Given the description of an element on the screen output the (x, y) to click on. 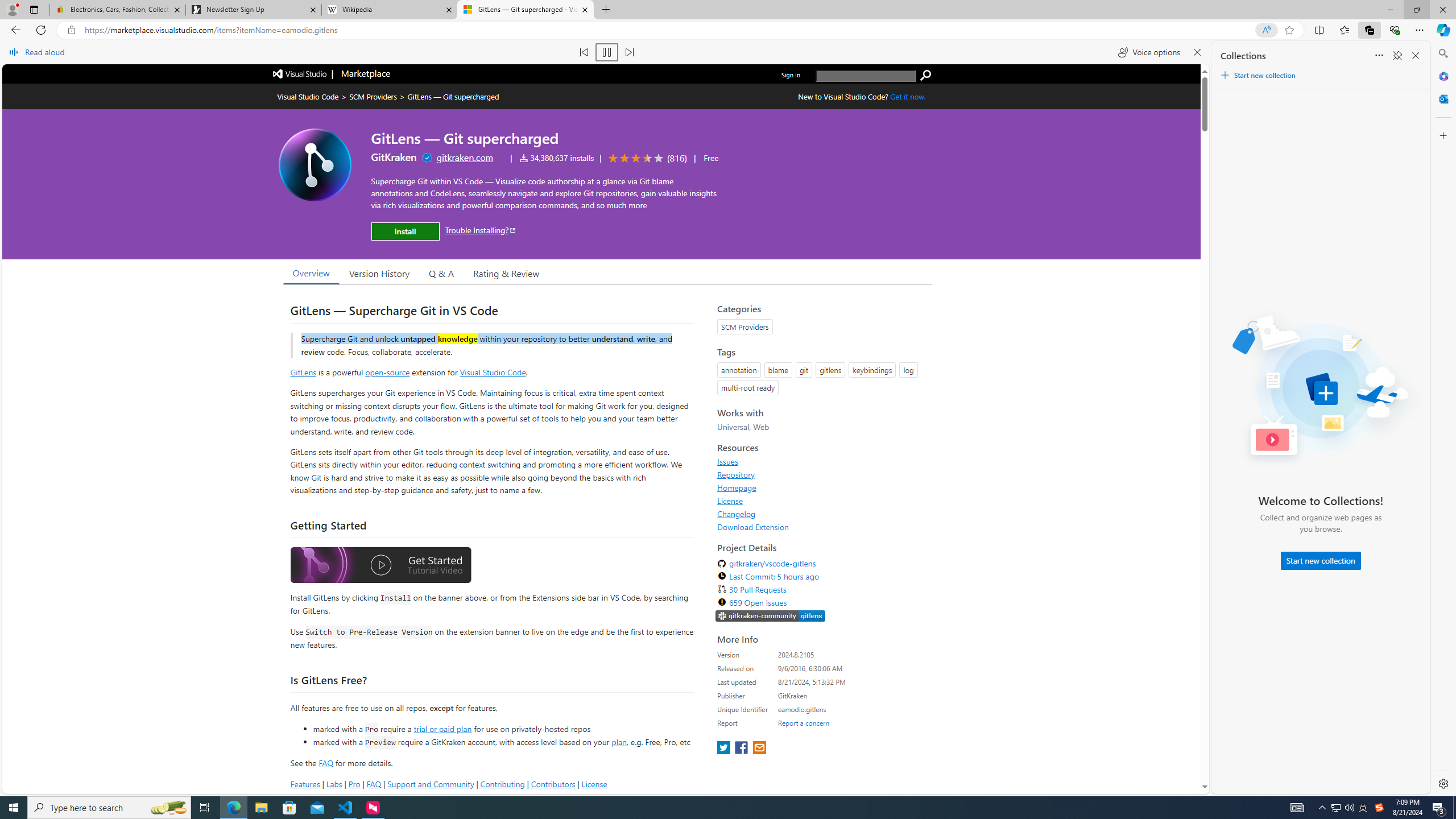
share extension on facebook (742, 748)
Version History (379, 272)
License (729, 500)
Contributing (502, 783)
search (866, 75)
Rating & Review (505, 272)
Download Extension (820, 526)
Pause read aloud (Ctrl+Shift+U) (606, 52)
Start new collection (1321, 560)
share extension on twitter (724, 748)
open-source (387, 371)
